Given the description of an element on the screen output the (x, y) to click on. 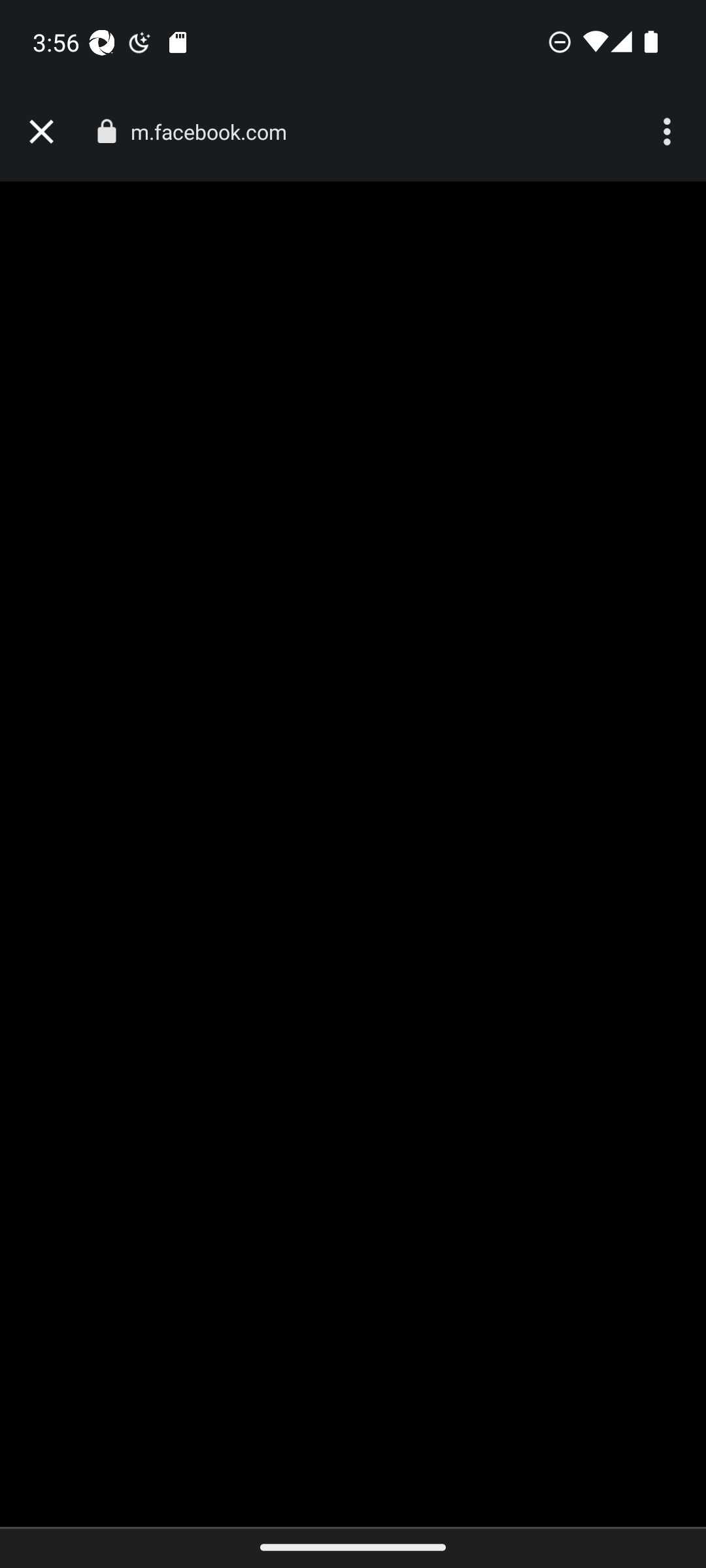
Close tab (41, 131)
More options (669, 131)
Connection is secure (106, 131)
m.facebook.com (215, 131)
